Given the description of an element on the screen output the (x, y) to click on. 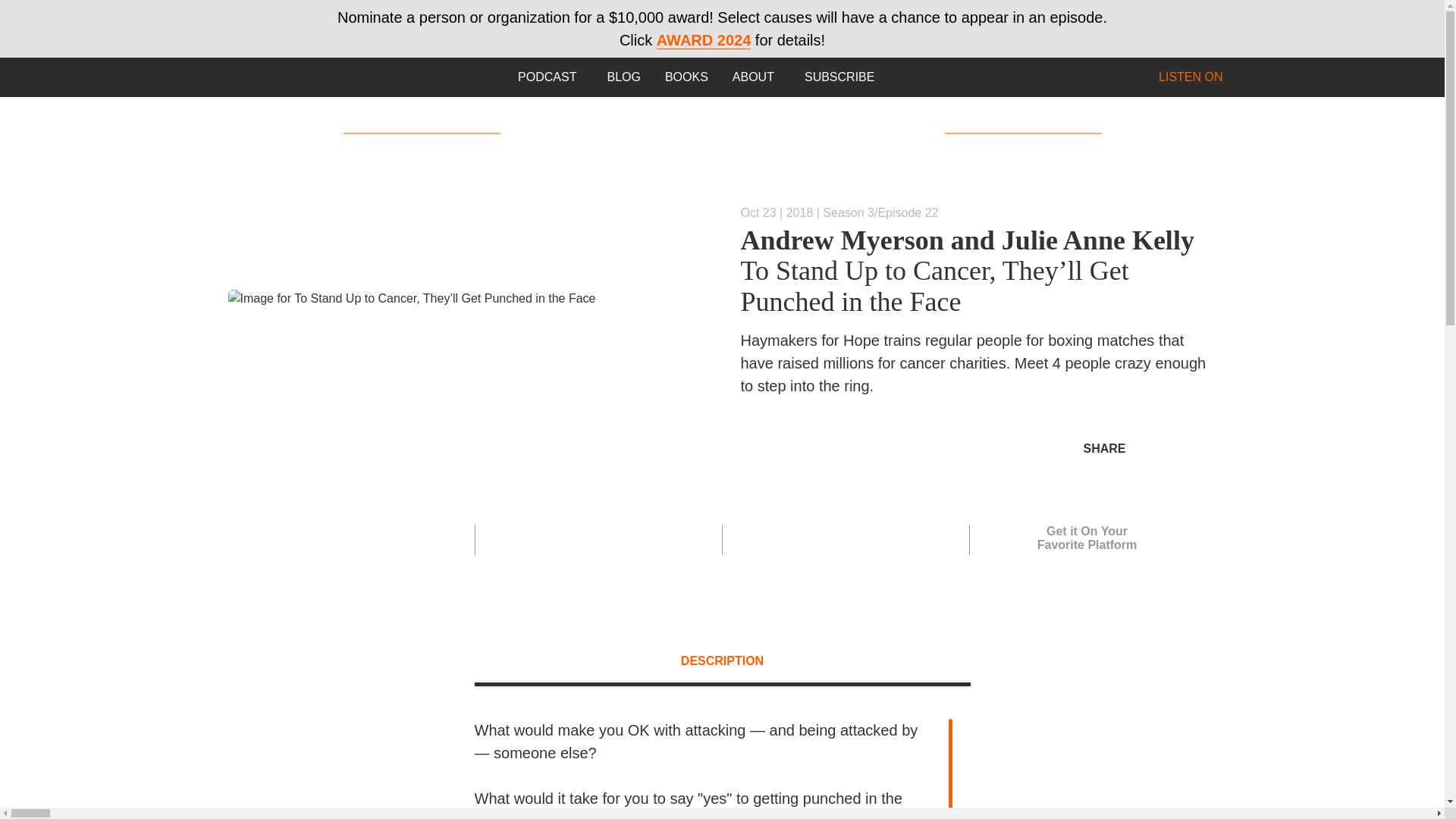
Search (218, 77)
BOOKS (686, 77)
LISTEN ON (1196, 77)
Crazy Good Turns (722, 133)
Libsyn Player (456, 305)
AWARD 2024 (703, 40)
BLOG (623, 77)
ABOUT (756, 77)
PODCAST (549, 77)
SUBSCRIBE (839, 77)
